Given the description of an element on the screen output the (x, y) to click on. 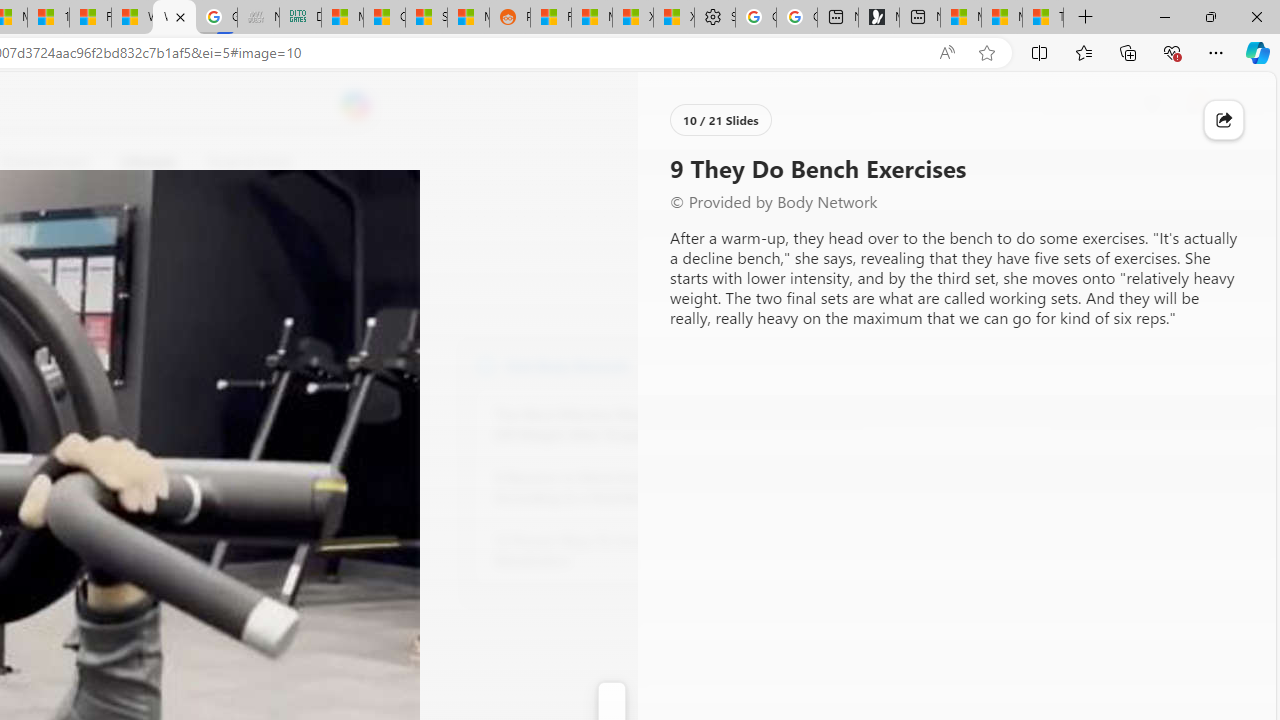
R******* | Trusted Community Engagement and Contributions (550, 17)
Open settings (1231, 105)
Stocks - MSN (425, 17)
Microsoft rewards (1151, 105)
To get missing image descriptions, open the context menu. (671, 162)
Food & Drink (249, 162)
